Given the description of an element on the screen output the (x, y) to click on. 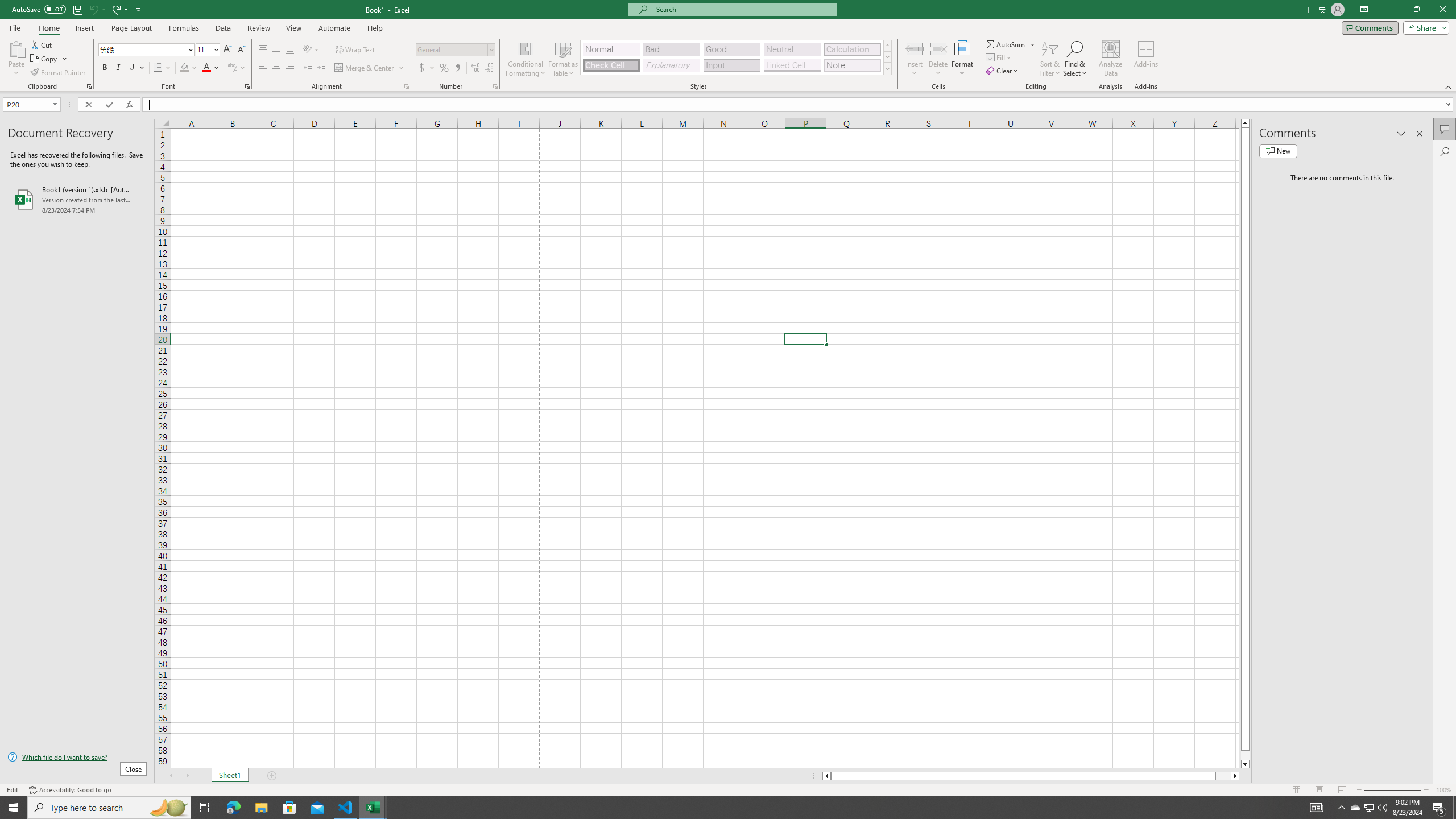
Center (276, 67)
Customize Quick Access Toolbar (139, 9)
Note (852, 65)
Increase Decimal (474, 67)
Class: NetUIScrollBar (1030, 775)
Find & Select (1075, 58)
Explanatory Text (671, 65)
Check Cell (611, 65)
Page Break Preview (1342, 790)
Font Color RGB(255, 0, 0) (206, 67)
Share (1423, 27)
Conditional Formatting (525, 58)
Bad (671, 49)
Copy (49, 58)
